Given the description of an element on the screen output the (x, y) to click on. 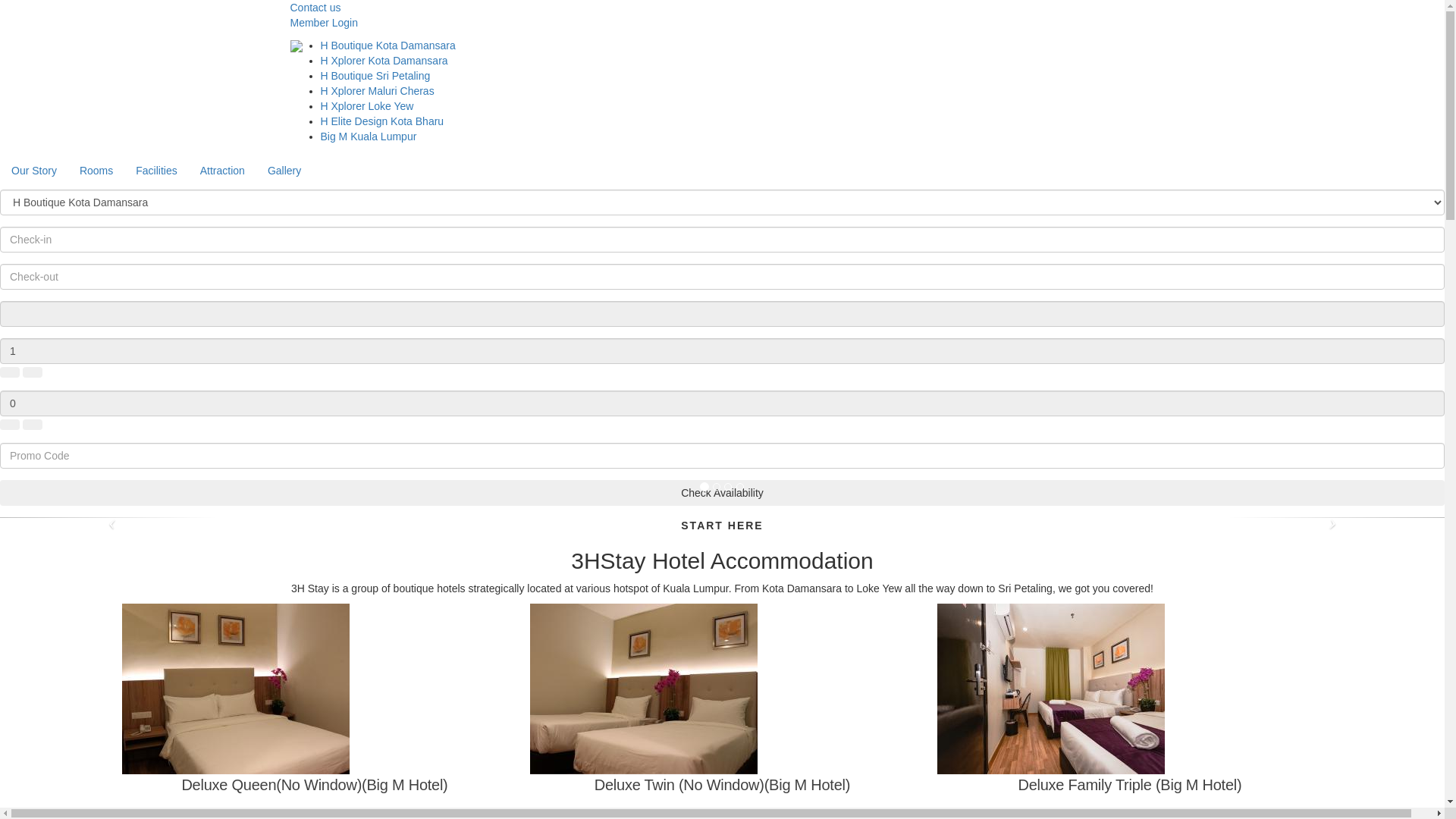
H Xplorer Kota Damansara Element type: text (383, 60)
Facilities Element type: text (156, 170)
Big M Kuala Lumpur Element type: text (368, 136)
Gallery Element type: text (284, 170)
Deluxe Queen(No Window)(Big M Hotel) Element type: text (314, 749)
Next Element type: text (1335, 517)
Night Element type: hover (722, 313)
H Xplorer Maluri Cheras Element type: text (376, 90)
H Boutique Sri Petaling Element type: text (374, 75)
Deluxe Family Triple (Big M Hotel) Element type: text (1129, 749)
H Elite Design Kota Bharu Element type: text (381, 121)
Rooms Element type: text (96, 170)
Our Story Element type: text (34, 170)
Member Login Element type: text (323, 22)
Check Availability Element type: text (722, 492)
Contact us Element type: text (314, 7)
Adult Element type: hover (722, 351)
H Boutique Kota Damansara Element type: text (387, 45)
Attraction Element type: text (222, 170)
Previous Element type: text (108, 517)
Deluxe Twin (No Window)(Big M Hotel) Element type: text (722, 749)
H Xplorer Loke Yew Element type: text (366, 106)
Child Element type: hover (722, 403)
